Given the description of an element on the screen output the (x, y) to click on. 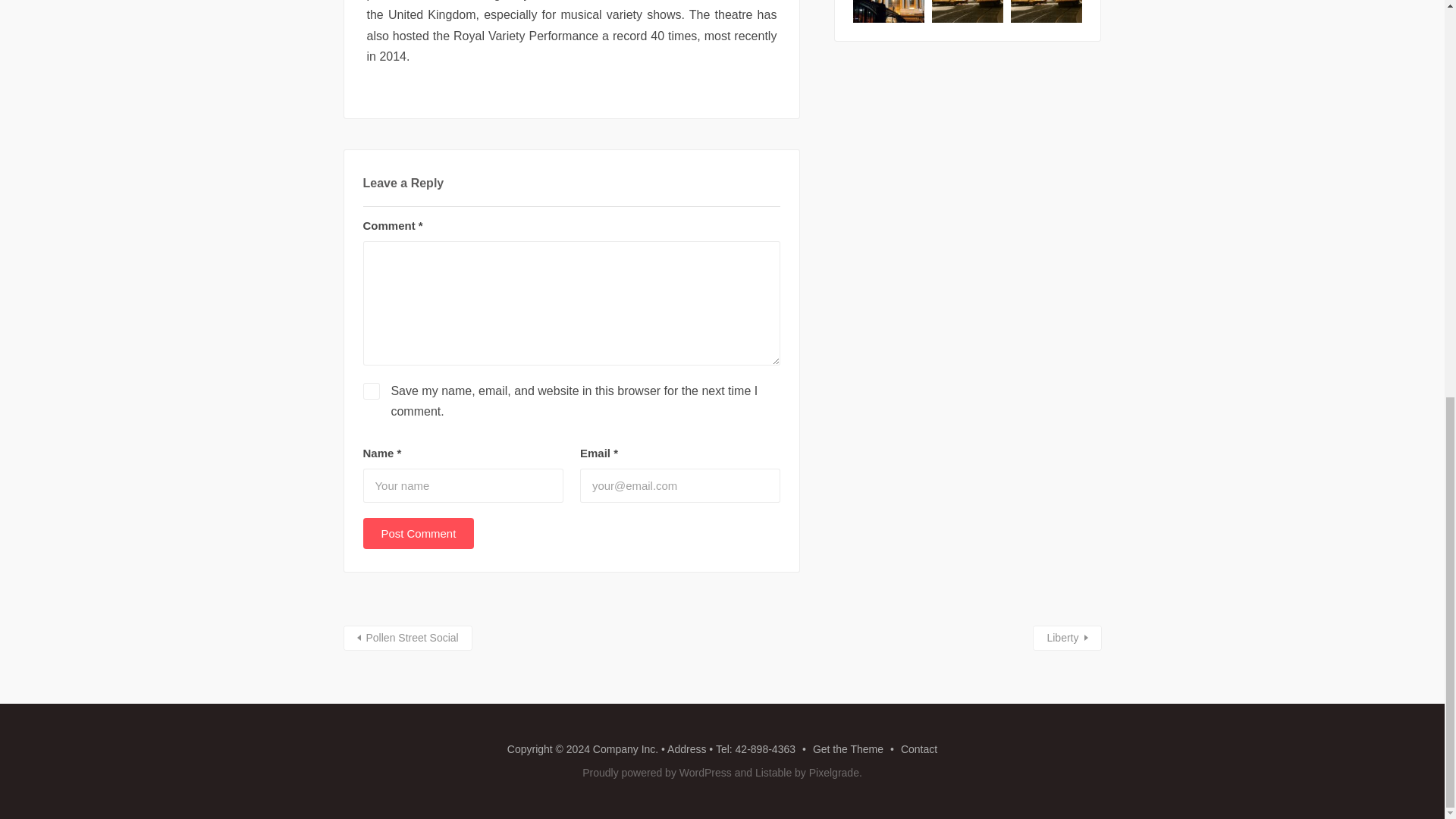
yes (370, 391)
Post Comment (418, 532)
Post Comment (418, 532)
